Given the description of an element on the screen output the (x, y) to click on. 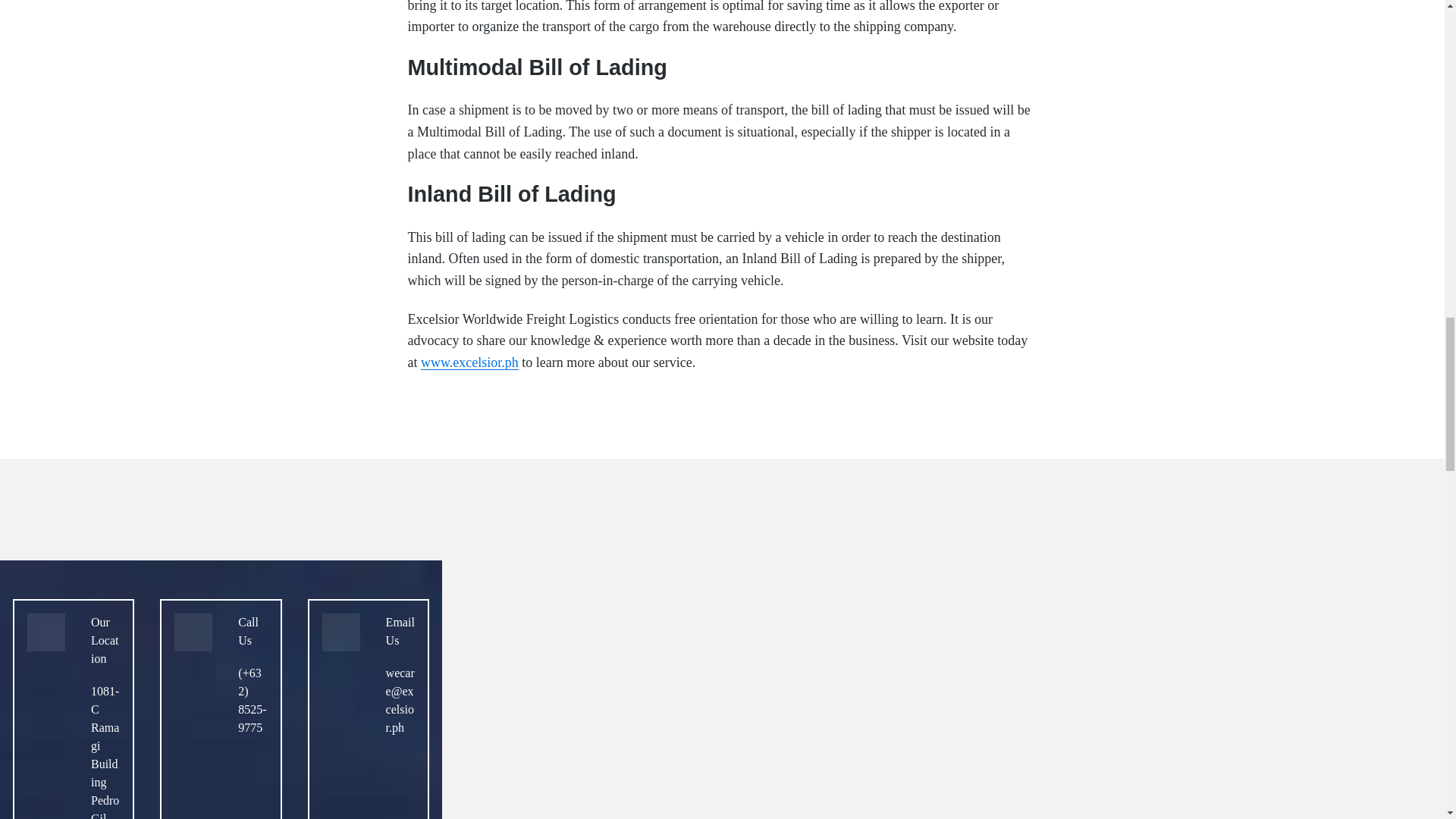
www.excelsior.ph (469, 362)
